Given the description of an element on the screen output the (x, y) to click on. 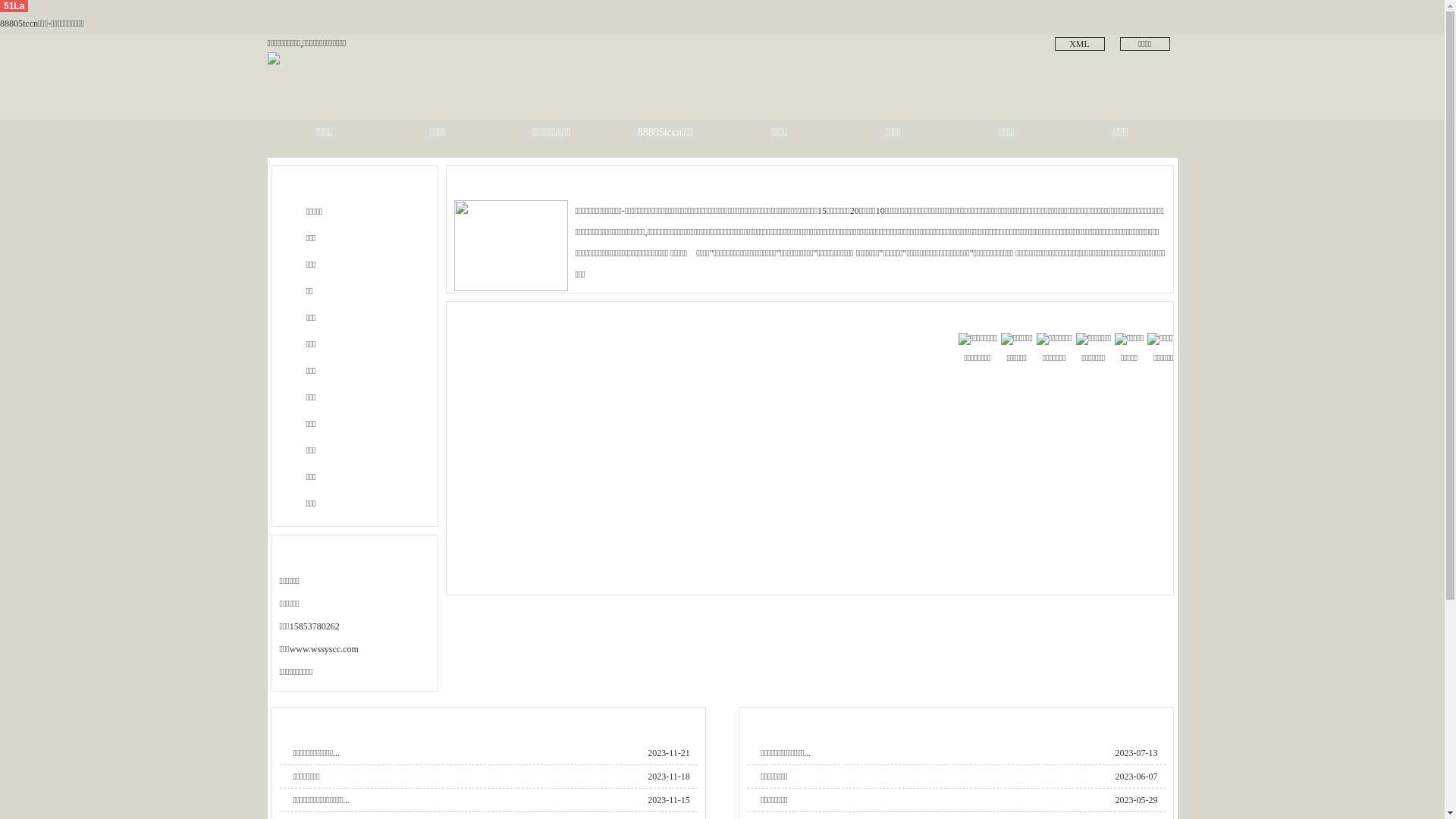
more >> Element type: text (684, 720)
more >> Element type: text (1152, 720)
more >> Element type: text (1152, 179)
XML Element type: text (1079, 43)
more >> Element type: text (1152, 314)
Prev Element type: text (21, 188)
51La Element type: text (14, 5)
Next Element type: text (1422, 188)
